Given the description of an element on the screen output the (x, y) to click on. 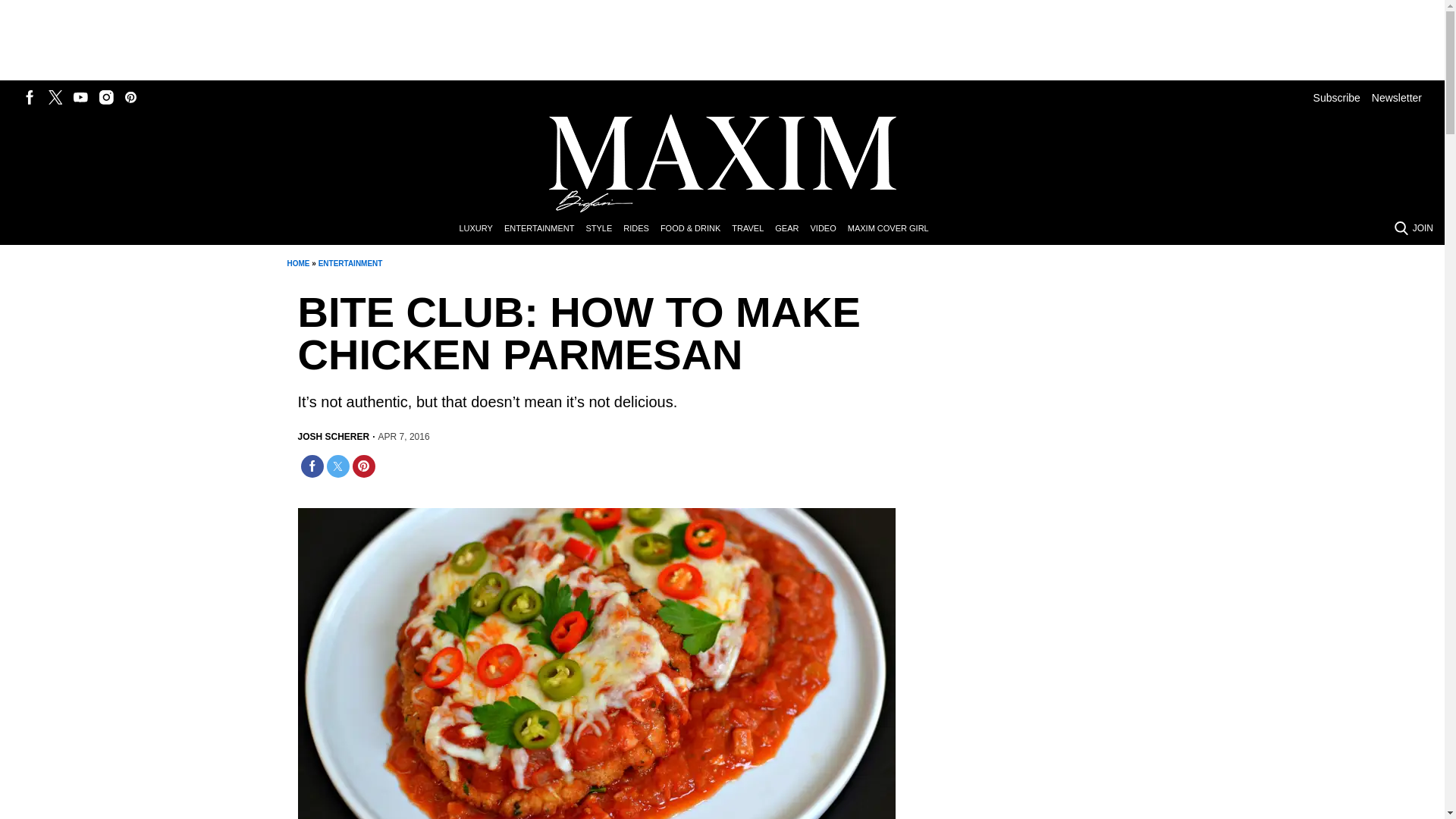
JOIN (1422, 228)
JOSH SCHERER (333, 436)
Posts by Josh Scherer (333, 436)
LUXURY (480, 228)
VIDEO (828, 228)
Share on Facebook (311, 466)
Follow us on Twitter (55, 97)
RIDES (642, 228)
HOME (297, 263)
TRAVEL (753, 228)
